Given the description of an element on the screen output the (x, y) to click on. 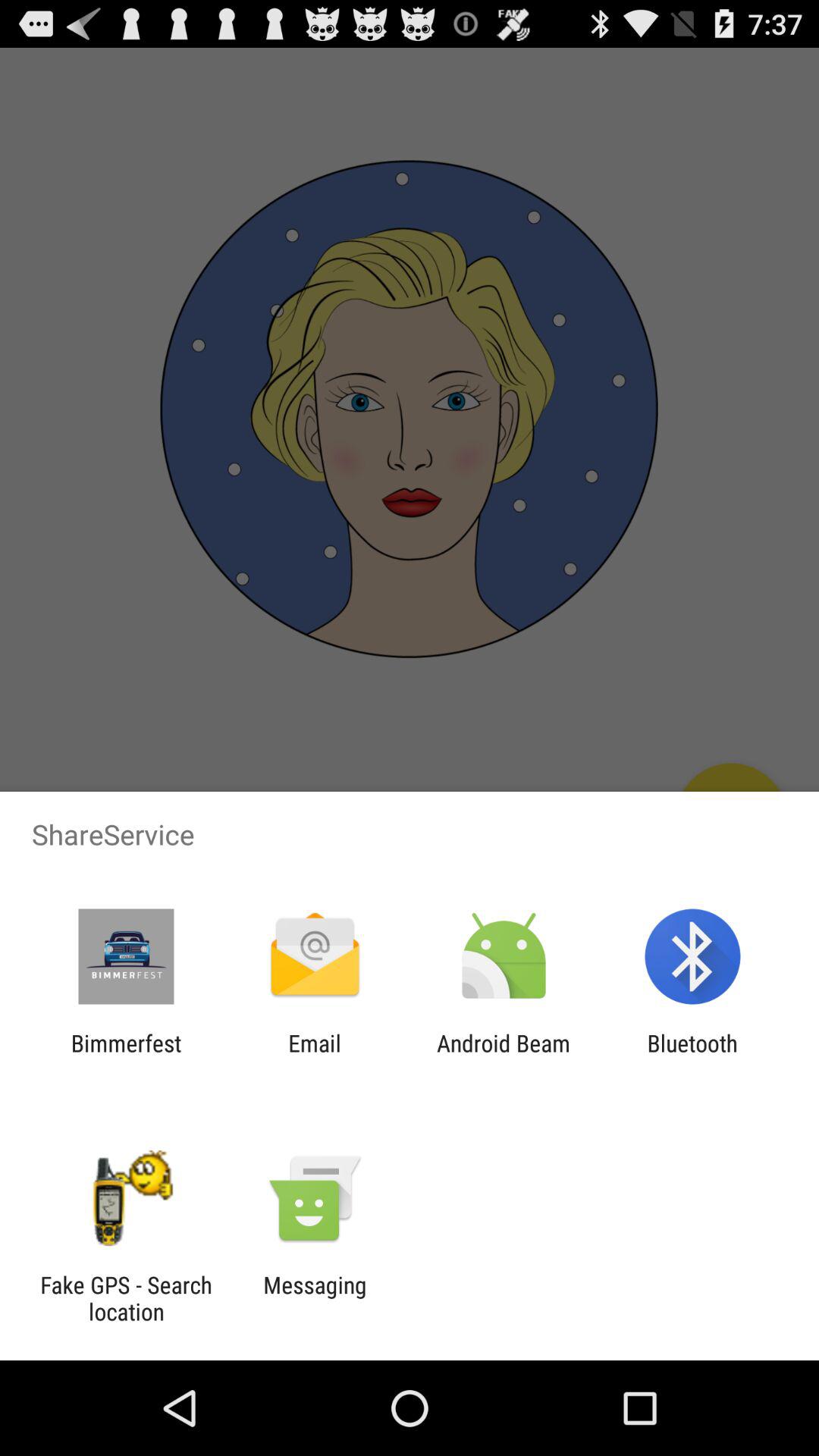
click icon to the right of the email icon (503, 1056)
